Given the description of an element on the screen output the (x, y) to click on. 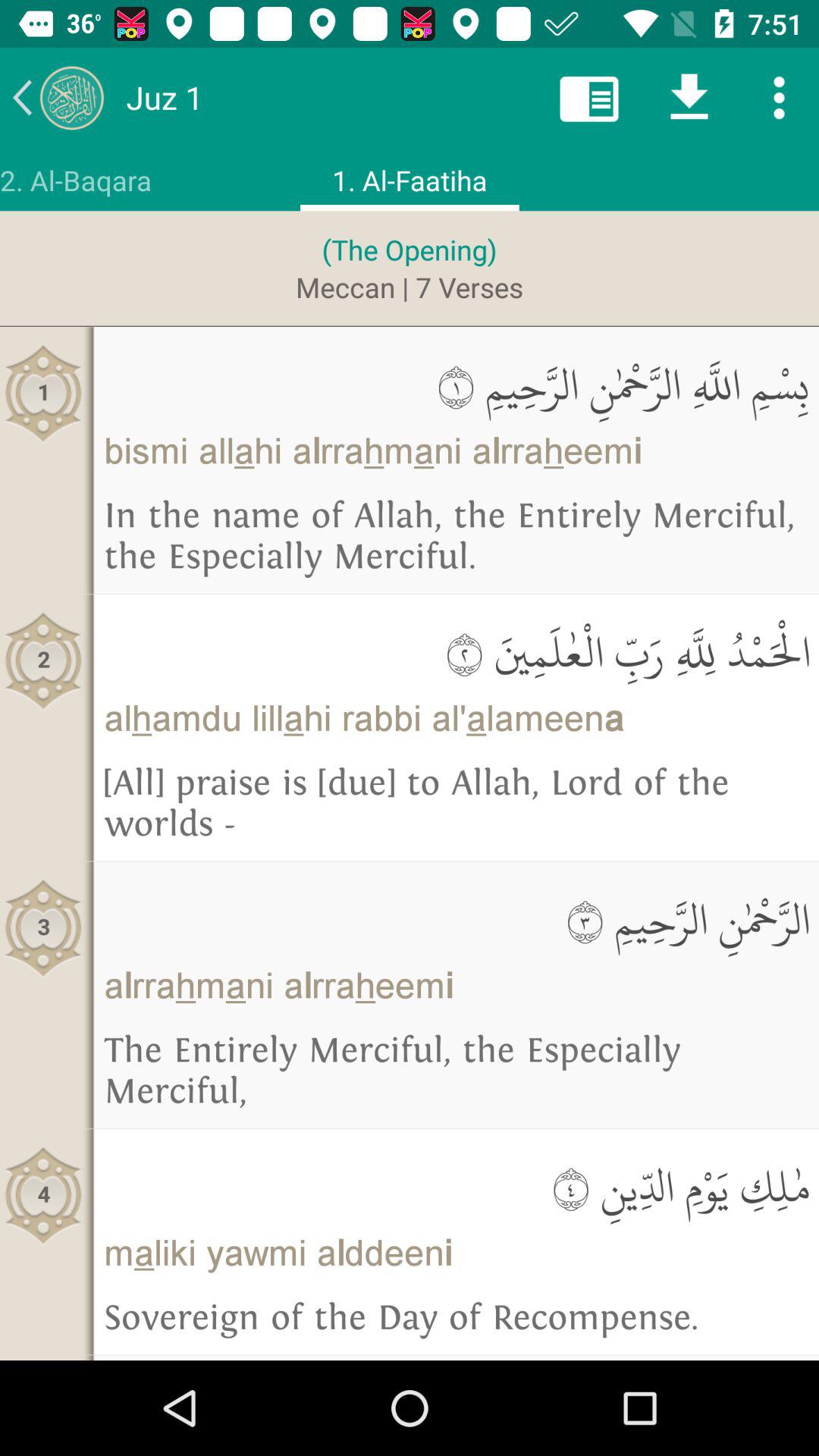
jump until the all praise is item (456, 803)
